Given the description of an element on the screen output the (x, y) to click on. 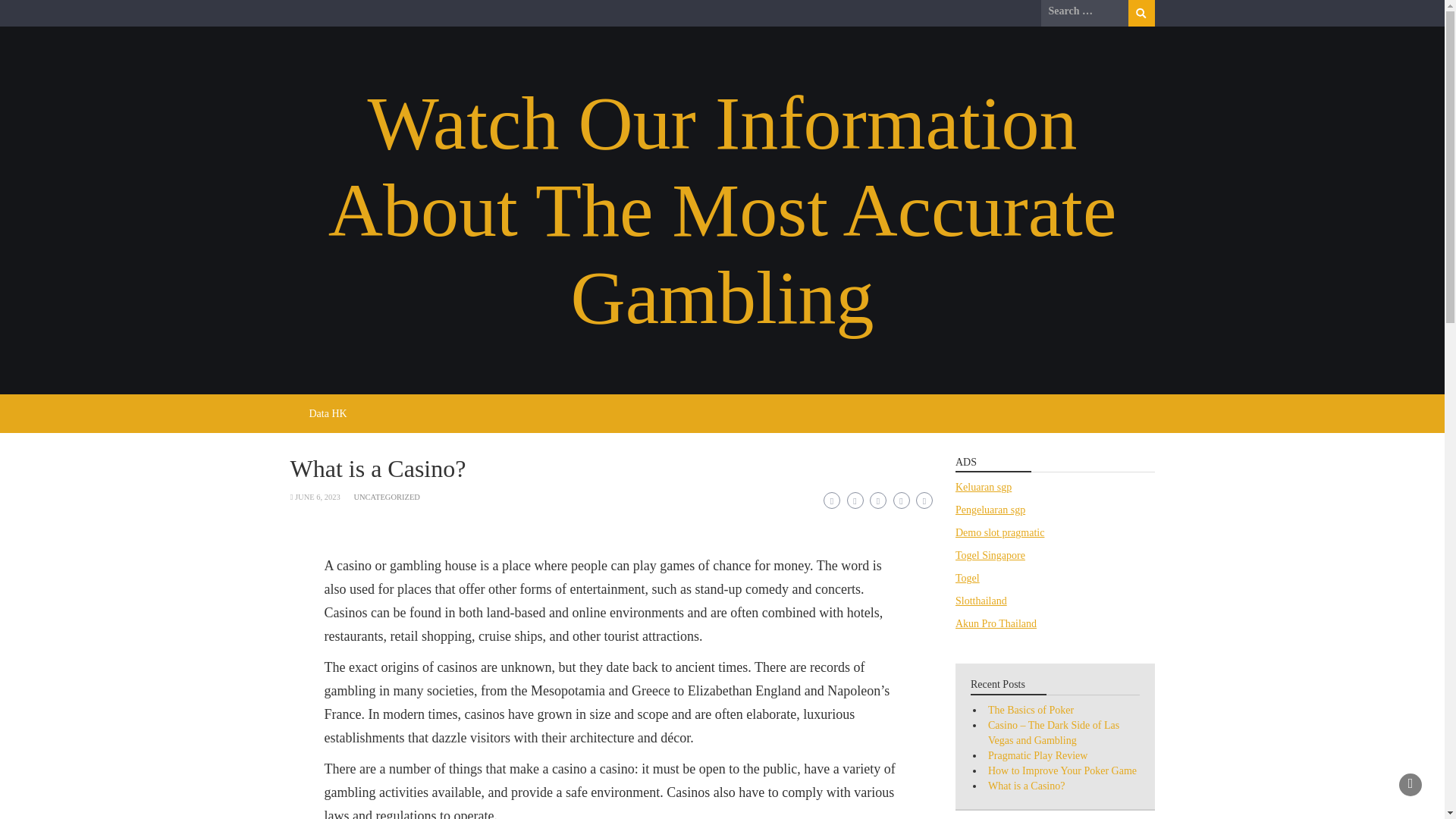
How to Improve Your Poker Game (1062, 770)
The Basics of Poker (1031, 709)
Pengeluaran sgp (990, 509)
What is a Casino? (1026, 785)
Demo slot pragmatic (999, 532)
Pragmatic Play Review (1037, 755)
Akun Pro Thailand (995, 623)
Togel (967, 577)
Keluaran sgp (983, 487)
Search (1141, 13)
